Given the description of an element on the screen output the (x, y) to click on. 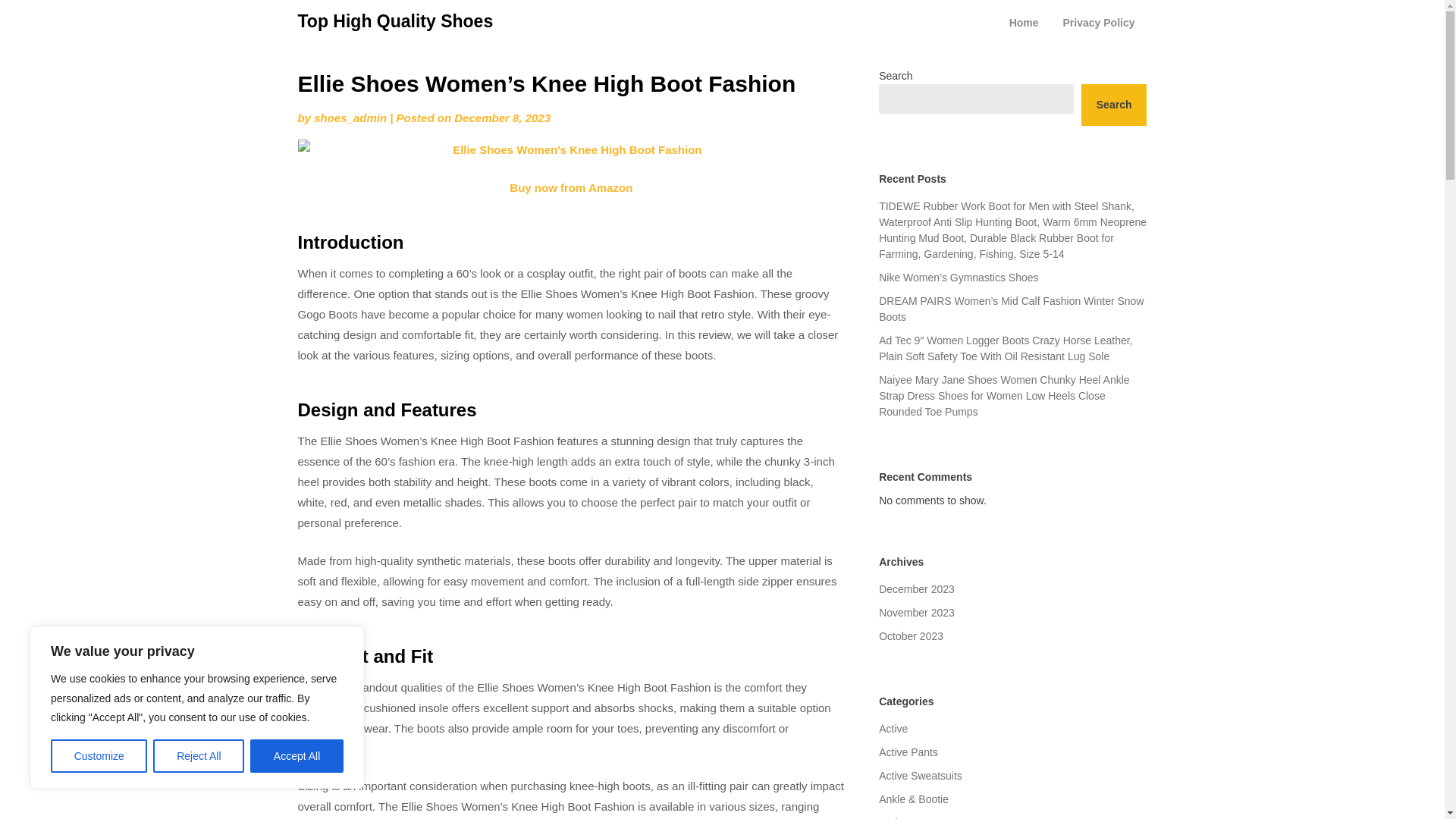
Privacy Policy (1099, 22)
November 2023 (917, 612)
Reject All (198, 756)
Top High Quality Shoes (395, 21)
Active (893, 728)
December 8, 2023 (502, 117)
Active Sweatsuits (920, 775)
Ellie Shoes Women's Knee High Boot Fashion (570, 149)
Search (1114, 105)
December 2023 (917, 589)
Home (1024, 22)
Buy now from Amazon (570, 187)
October 2023 (911, 635)
